Given the description of an element on the screen output the (x, y) to click on. 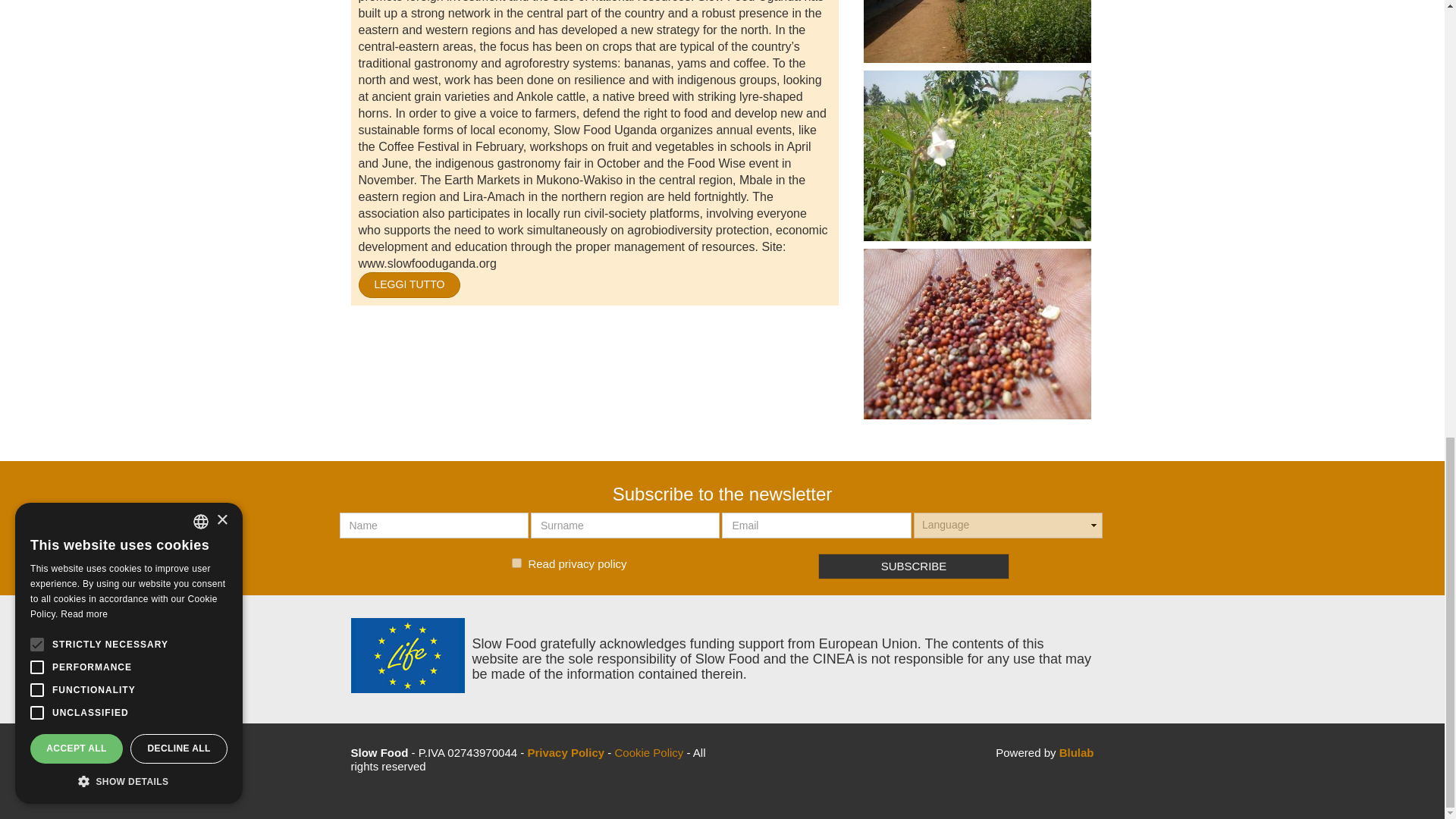
Subscribe (914, 566)
Slow Food - Web Agency (1076, 752)
